Given the description of an element on the screen output the (x, y) to click on. 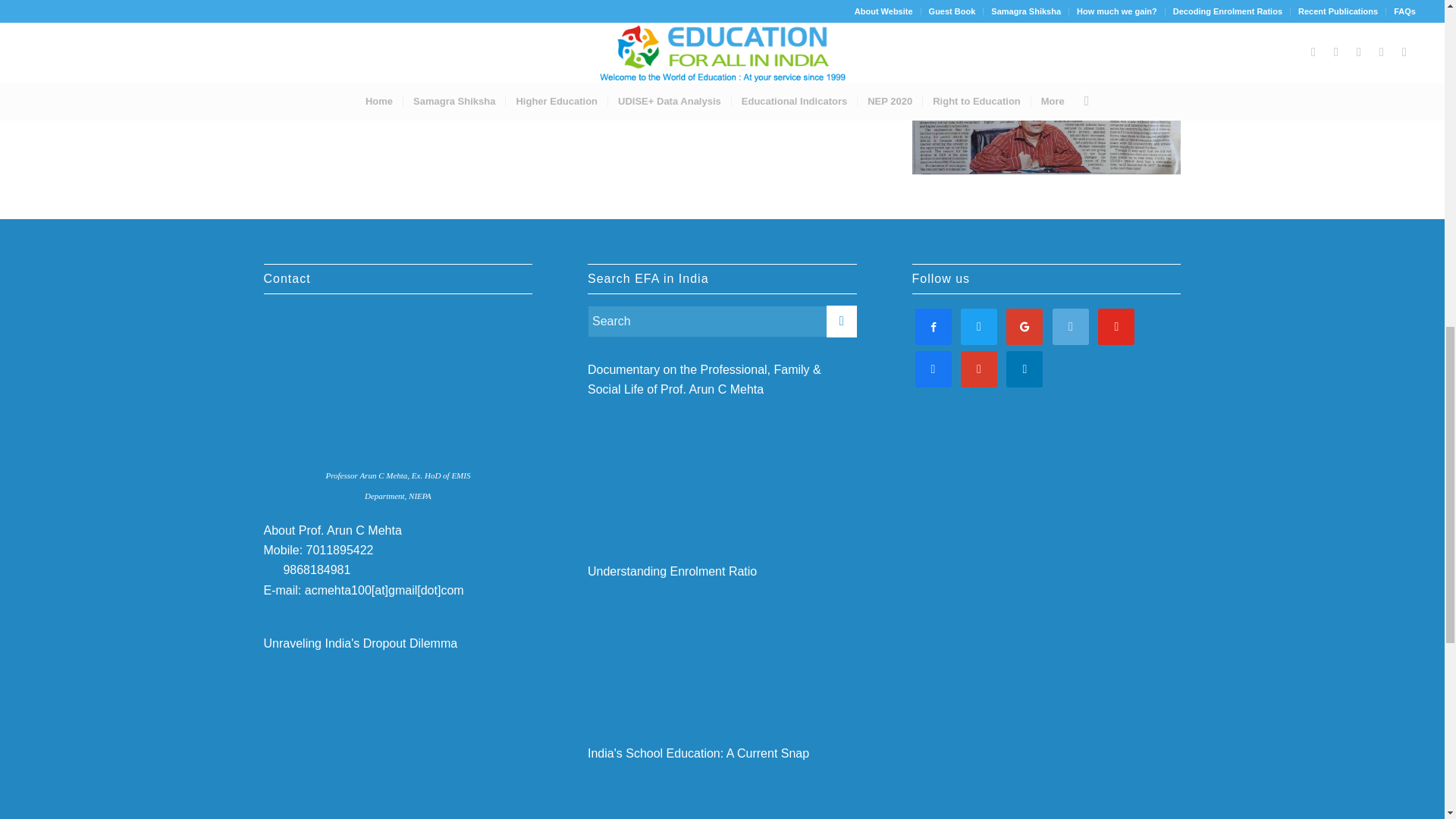
YouTube video player (397, 719)
whatsapp logo (269, 567)
YouTube video player (722, 466)
